Given the description of an element on the screen output the (x, y) to click on. 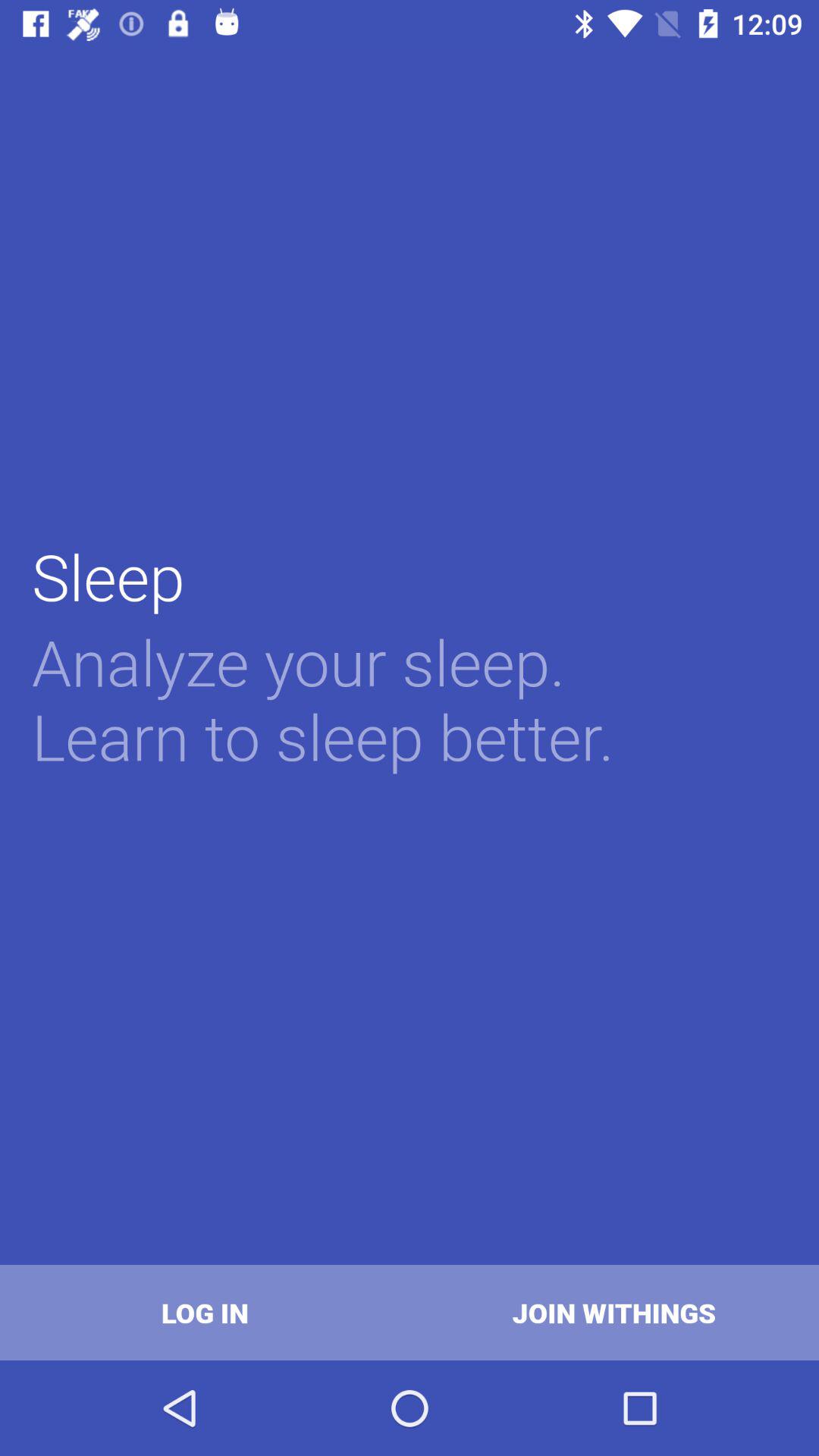
scroll until the join withings icon (614, 1312)
